Given the description of an element on the screen output the (x, y) to click on. 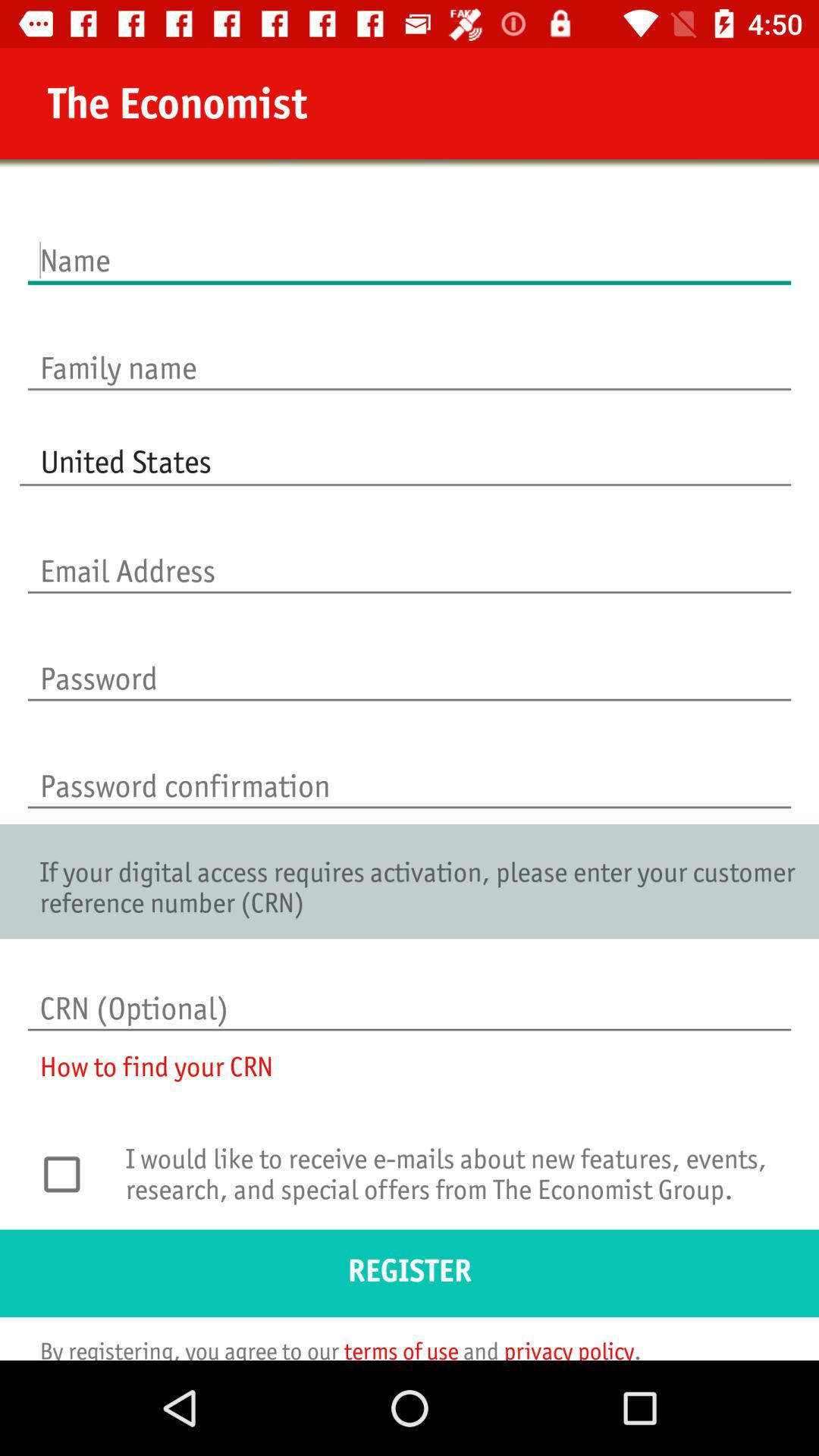
enter first name (409, 244)
